Given the description of an element on the screen output the (x, y) to click on. 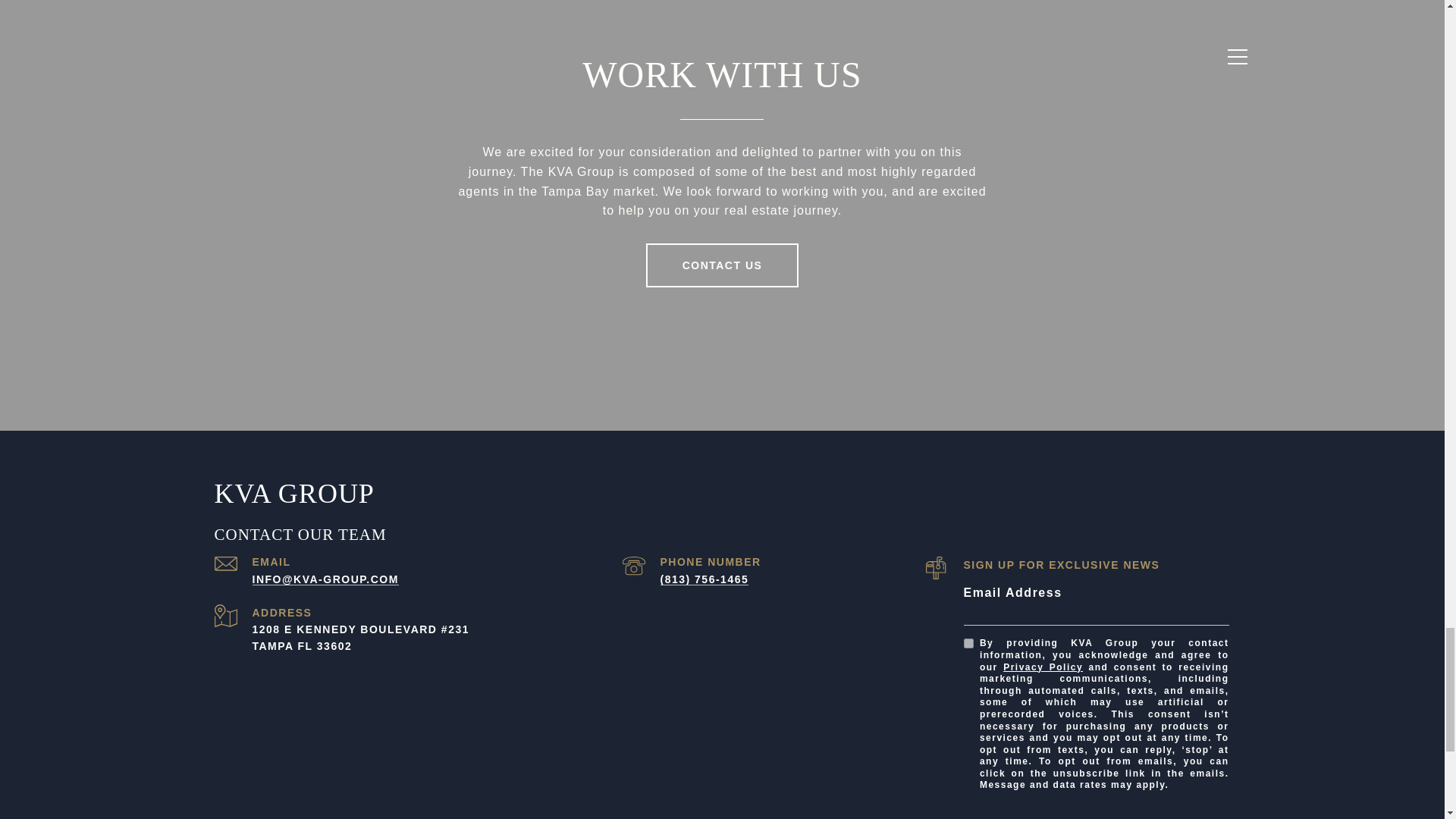
on (967, 643)
